Given the description of an element on the screen output the (x, y) to click on. 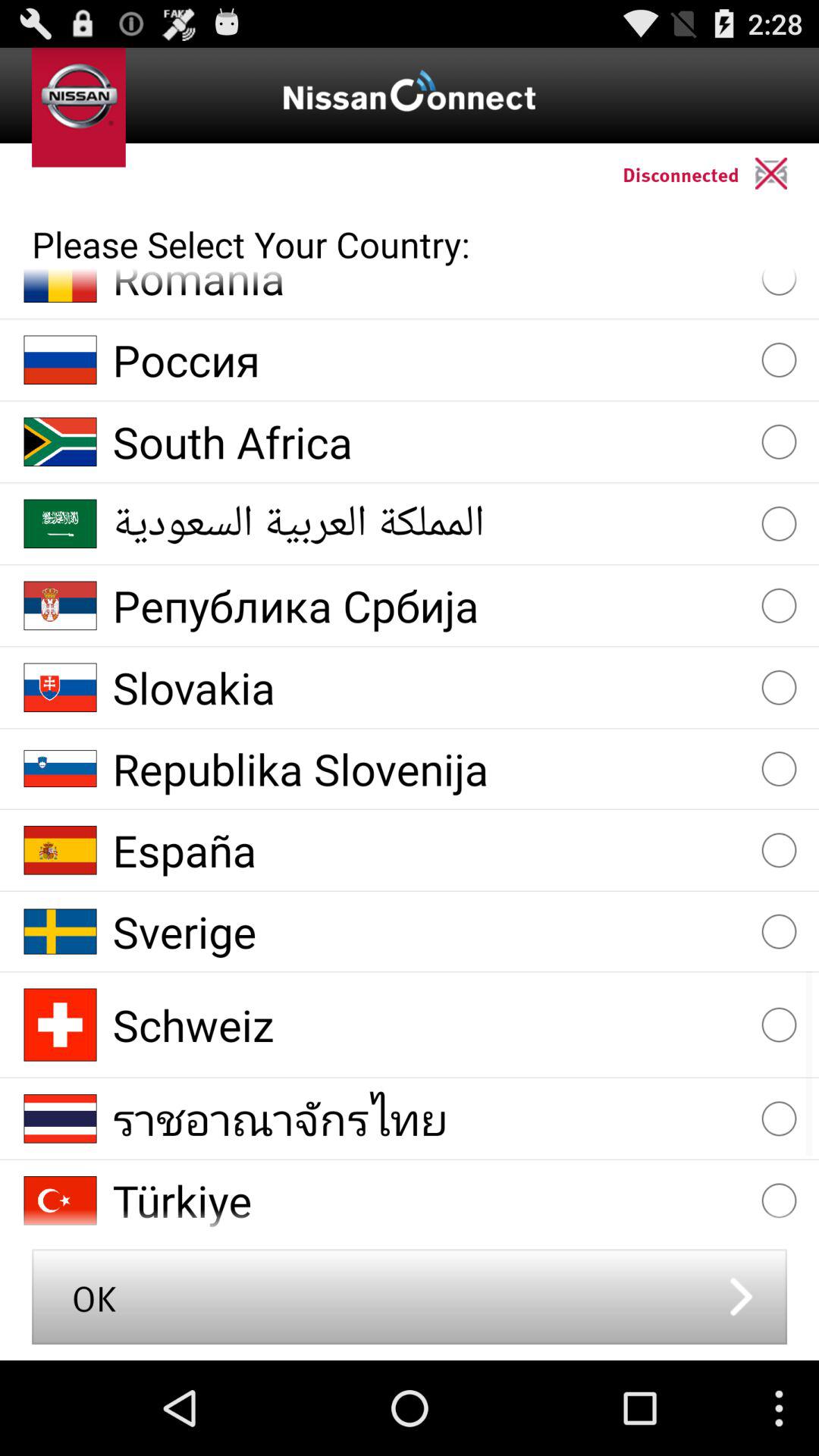
scroll until the south africa icon (429, 441)
